Given the description of an element on the screen output the (x, y) to click on. 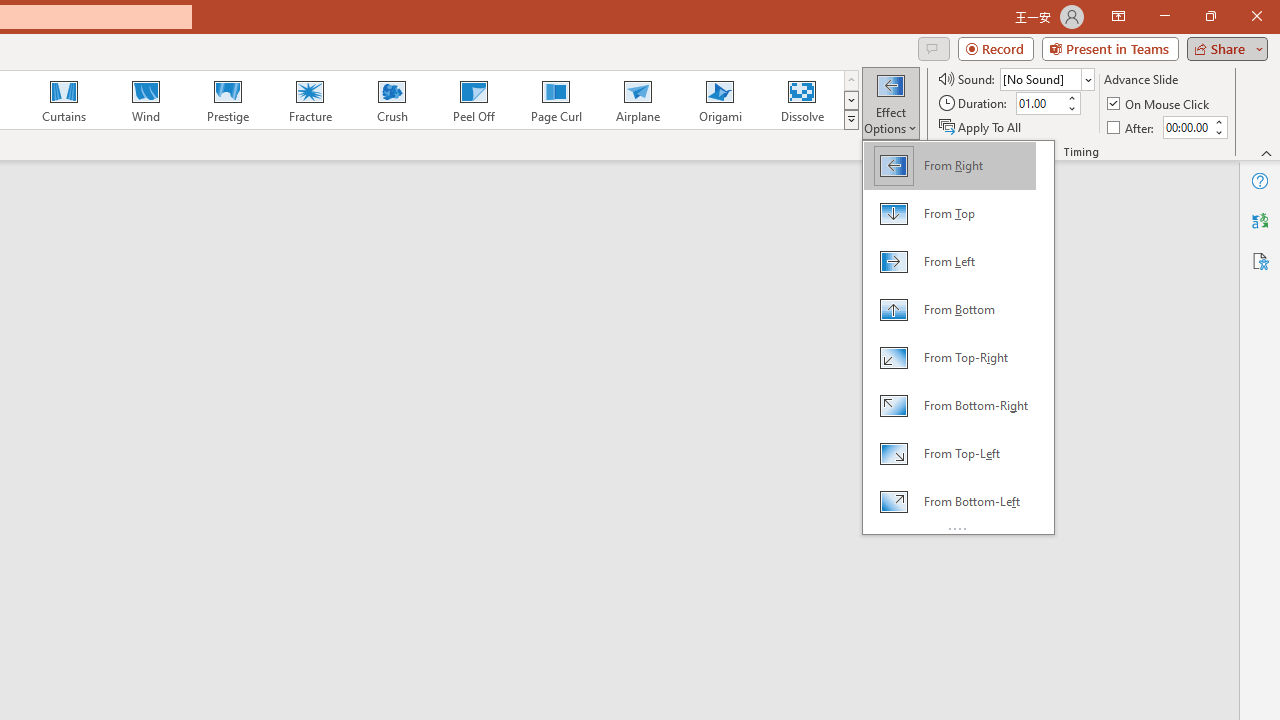
Prestige (227, 100)
Crush (391, 100)
Origami (719, 100)
Page Curl (555, 100)
Dissolve (802, 100)
Duration (1039, 103)
